Given the description of an element on the screen output the (x, y) to click on. 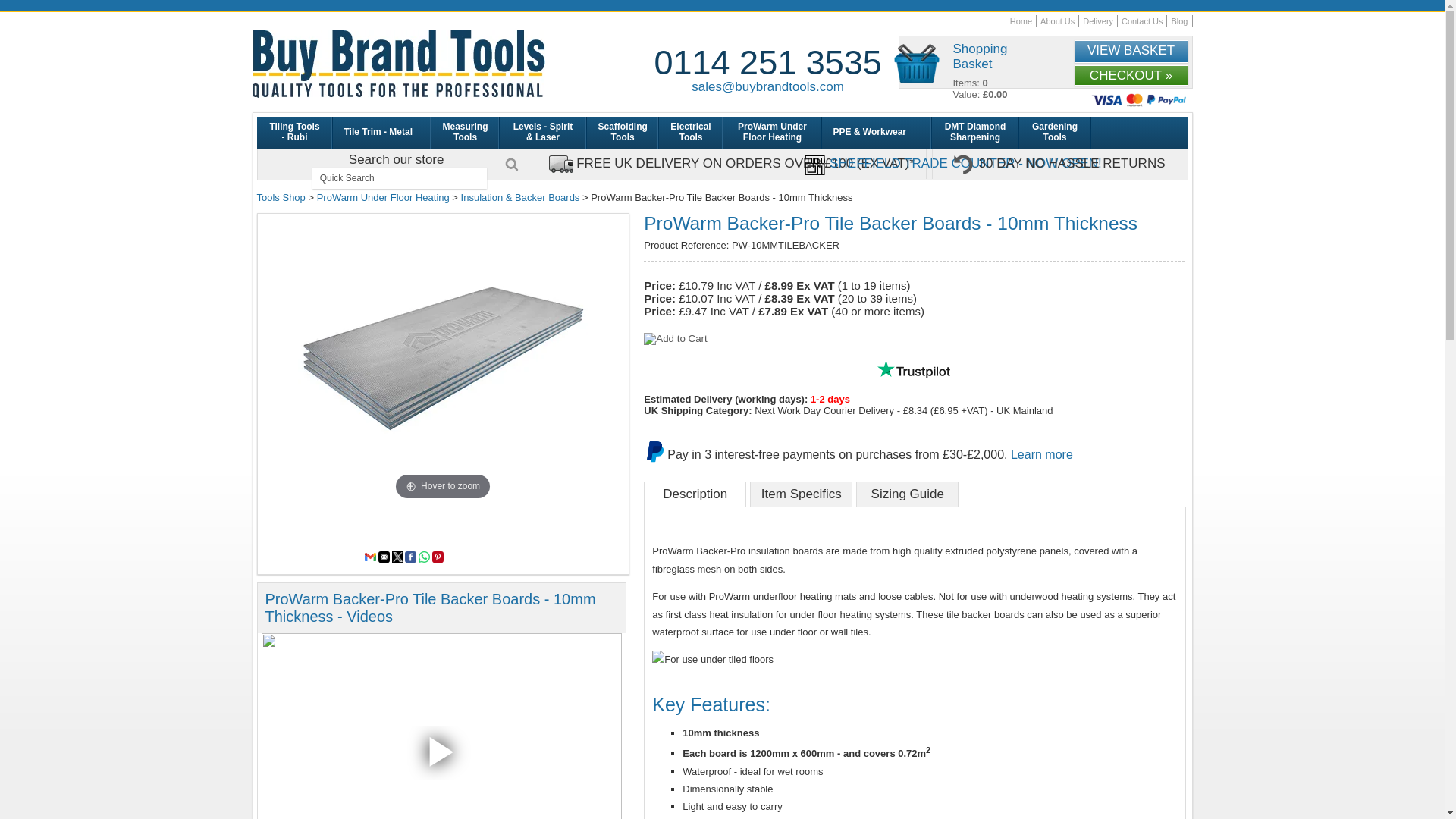
VIEW BASKET (1131, 51)
Customer reviews powered by Trustpilot (913, 369)
Blog (1179, 20)
Quick Search (399, 178)
About Us (1057, 20)
Go! (510, 164)
Tiling Tools - Rubi (293, 132)
Contact Us (1141, 20)
Quick Search (399, 178)
Delivery (1098, 20)
Go! (510, 164)
ProWarm Backer-Pro Tile Backer Boards - 10mm Thickness (443, 358)
Buy Brand Tools Home (397, 63)
Home (1021, 20)
